Given the description of an element on the screen output the (x, y) to click on. 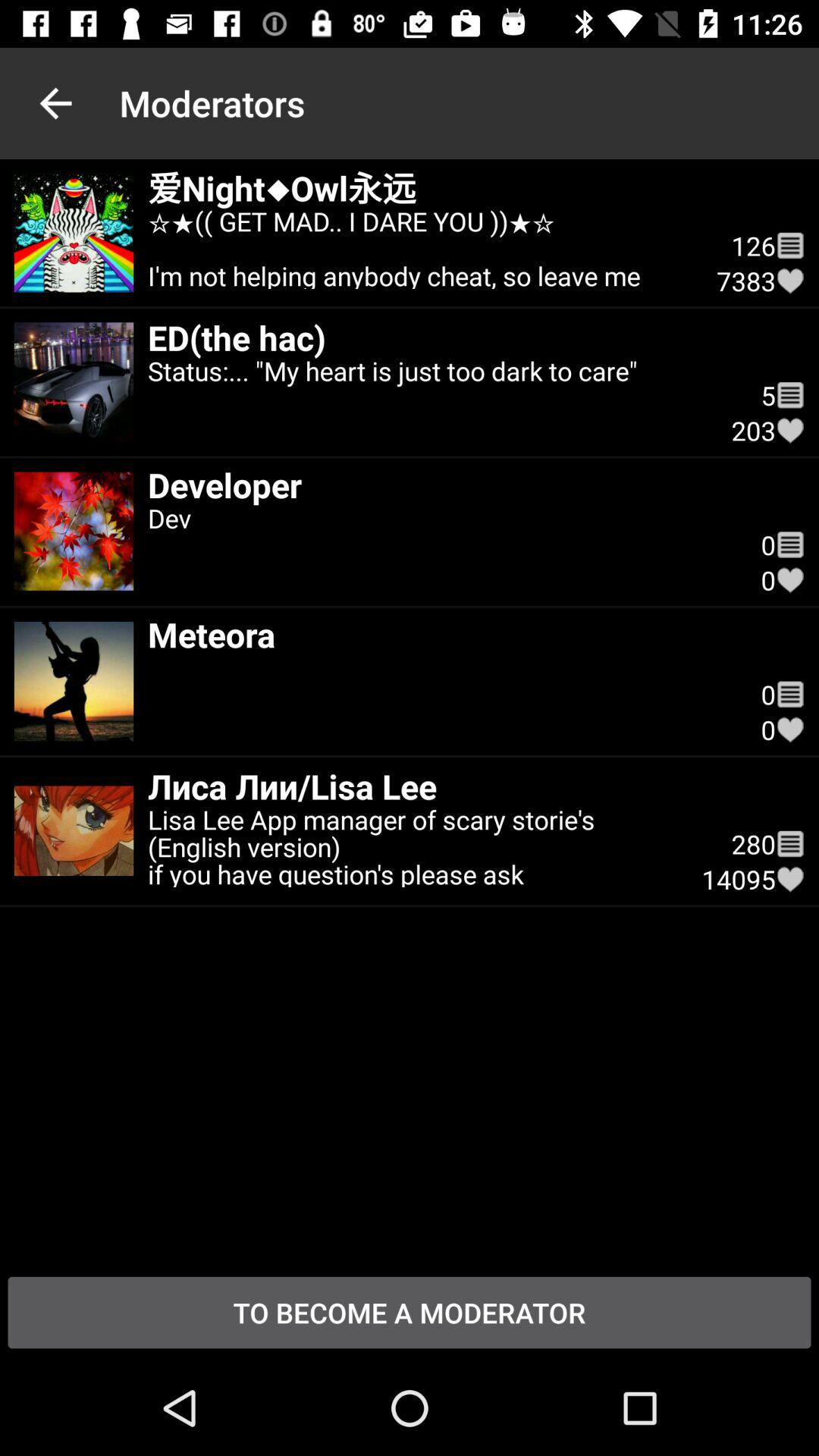
click icon to the left of the 0 (439, 634)
